Given the description of an element on the screen output the (x, y) to click on. 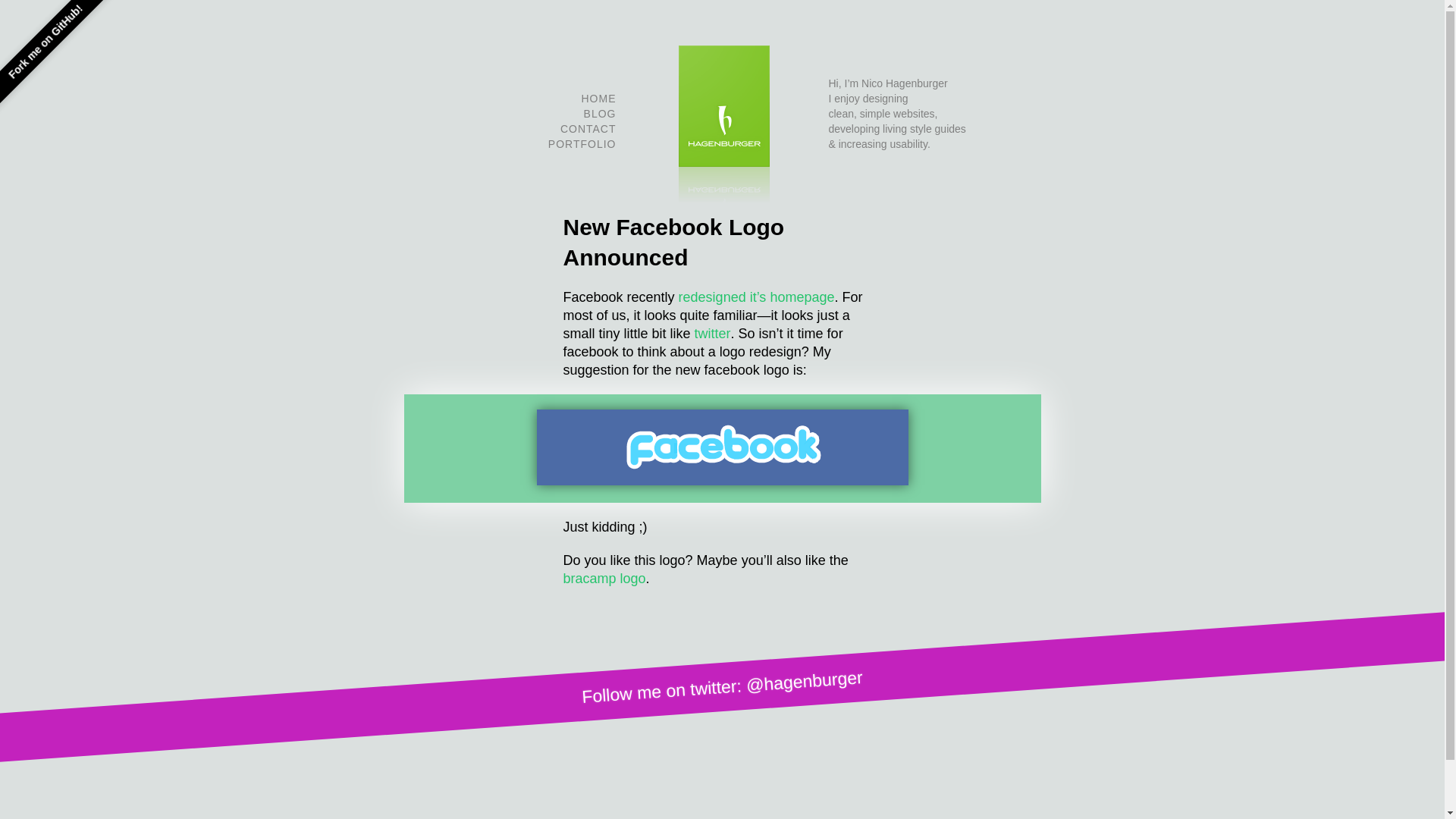
bracamp logo (603, 578)
HOME (597, 98)
CONTACT (587, 128)
PORTFOLIO (581, 143)
BLOG (599, 113)
homepage (802, 296)
twitter (712, 333)
redesigned (711, 296)
